Given the description of an element on the screen output the (x, y) to click on. 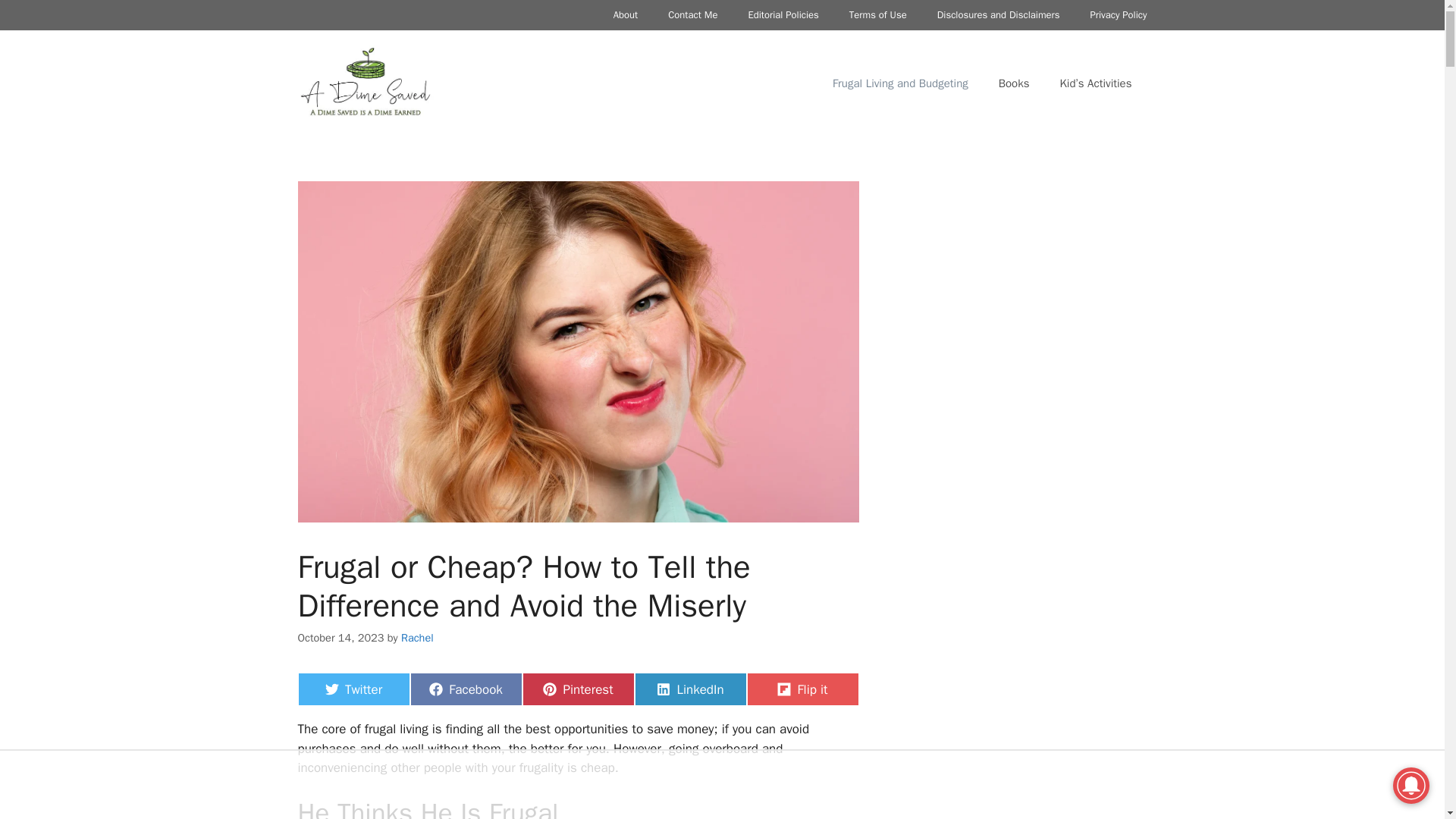
View all posts by Rachel (417, 637)
Privacy Policy (689, 688)
Rachel (1117, 15)
Disclosures and Disclaimers (417, 637)
Books (998, 15)
Frugal Living and Budgeting (465, 688)
